Given the description of an element on the screen output the (x, y) to click on. 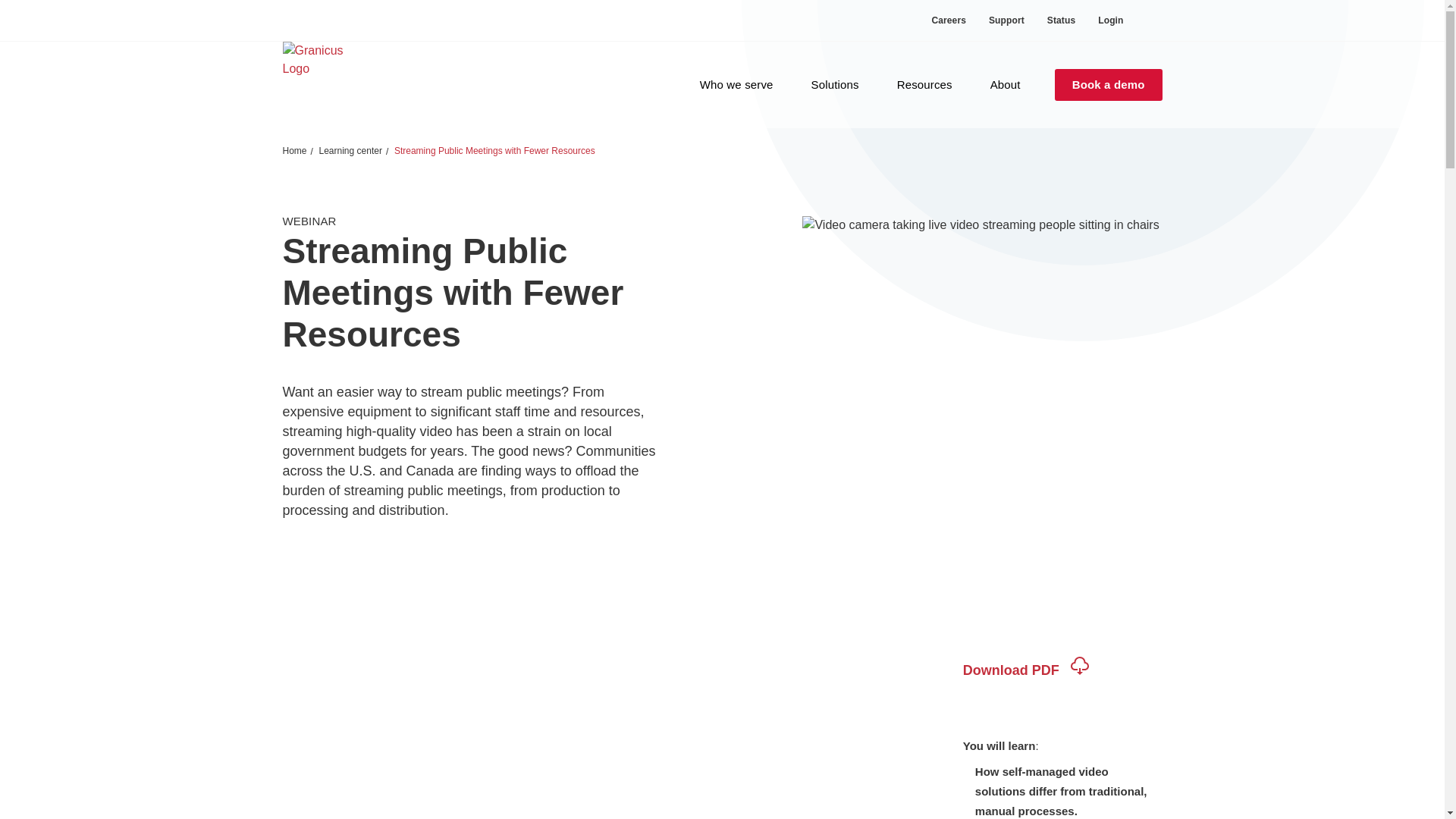
Status (1060, 20)
Careers (948, 20)
Solutions (834, 84)
Who we serve (736, 84)
Support (1005, 20)
Resources (924, 84)
Login (1104, 20)
